Given the description of an element on the screen output the (x, y) to click on. 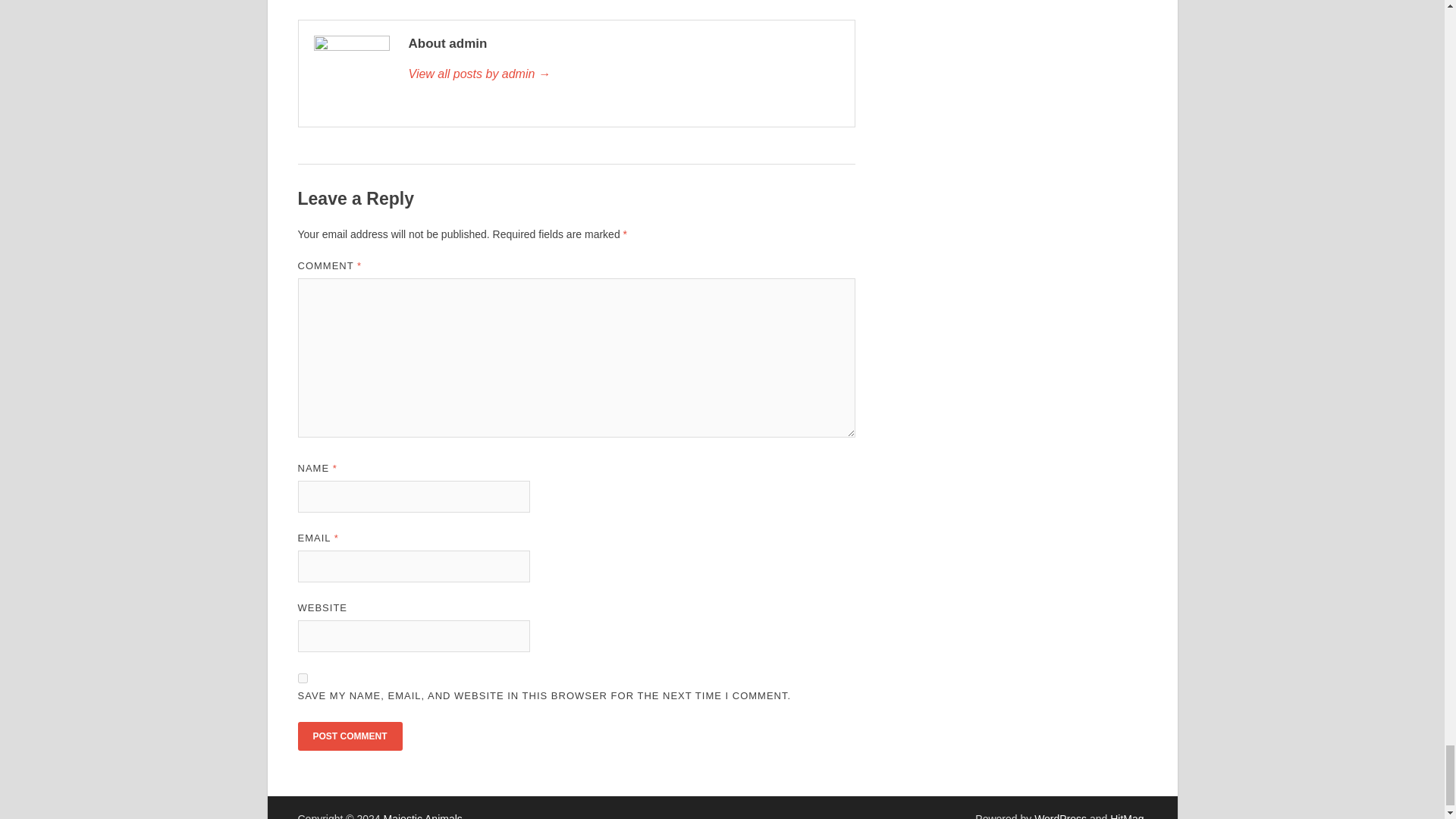
Post Comment (349, 736)
yes (302, 678)
Post Comment (349, 736)
admin (622, 74)
